Given the description of an element on the screen output the (x, y) to click on. 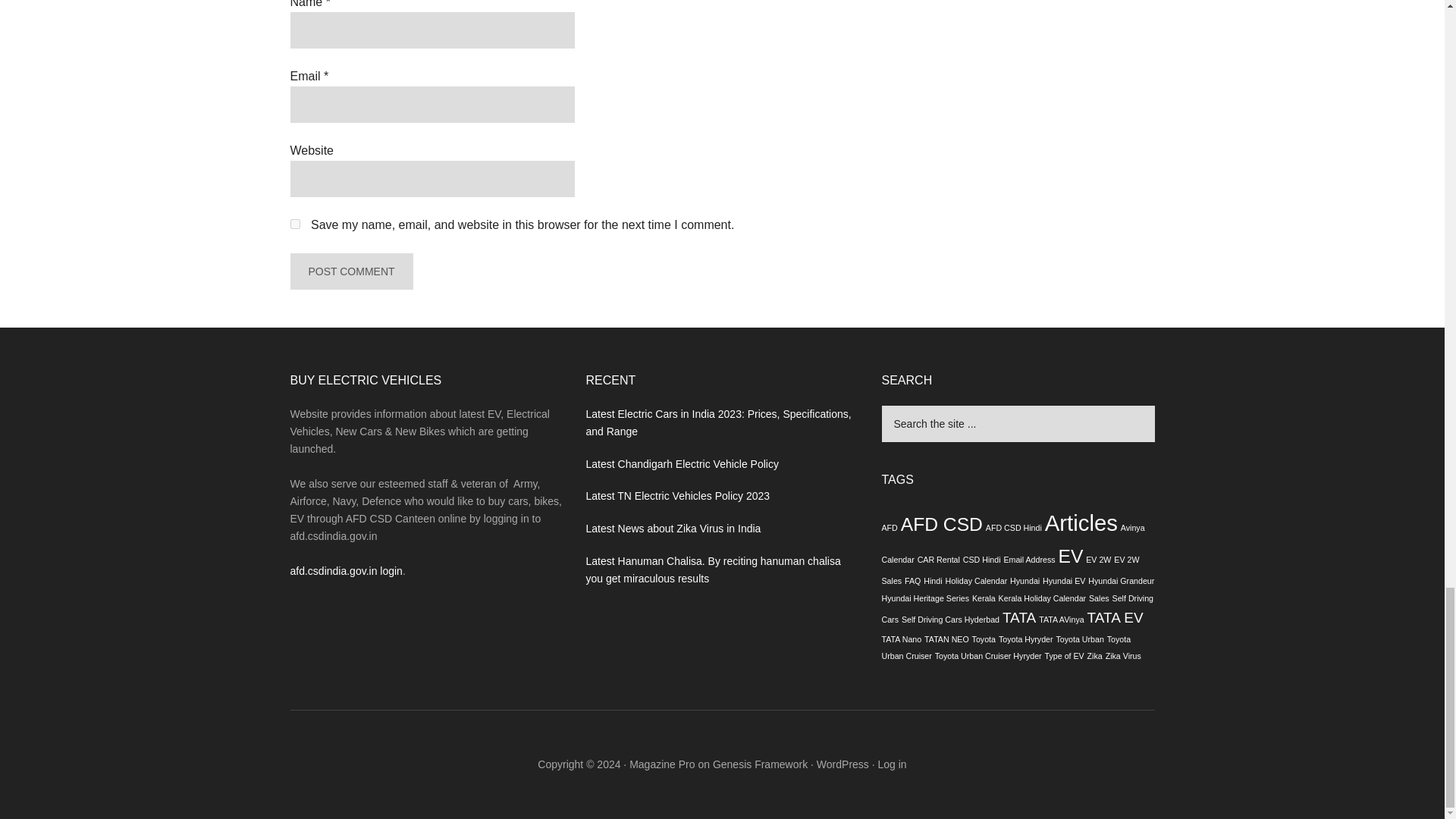
yes (294, 224)
Post Comment (350, 271)
